Given the description of an element on the screen output the (x, y) to click on. 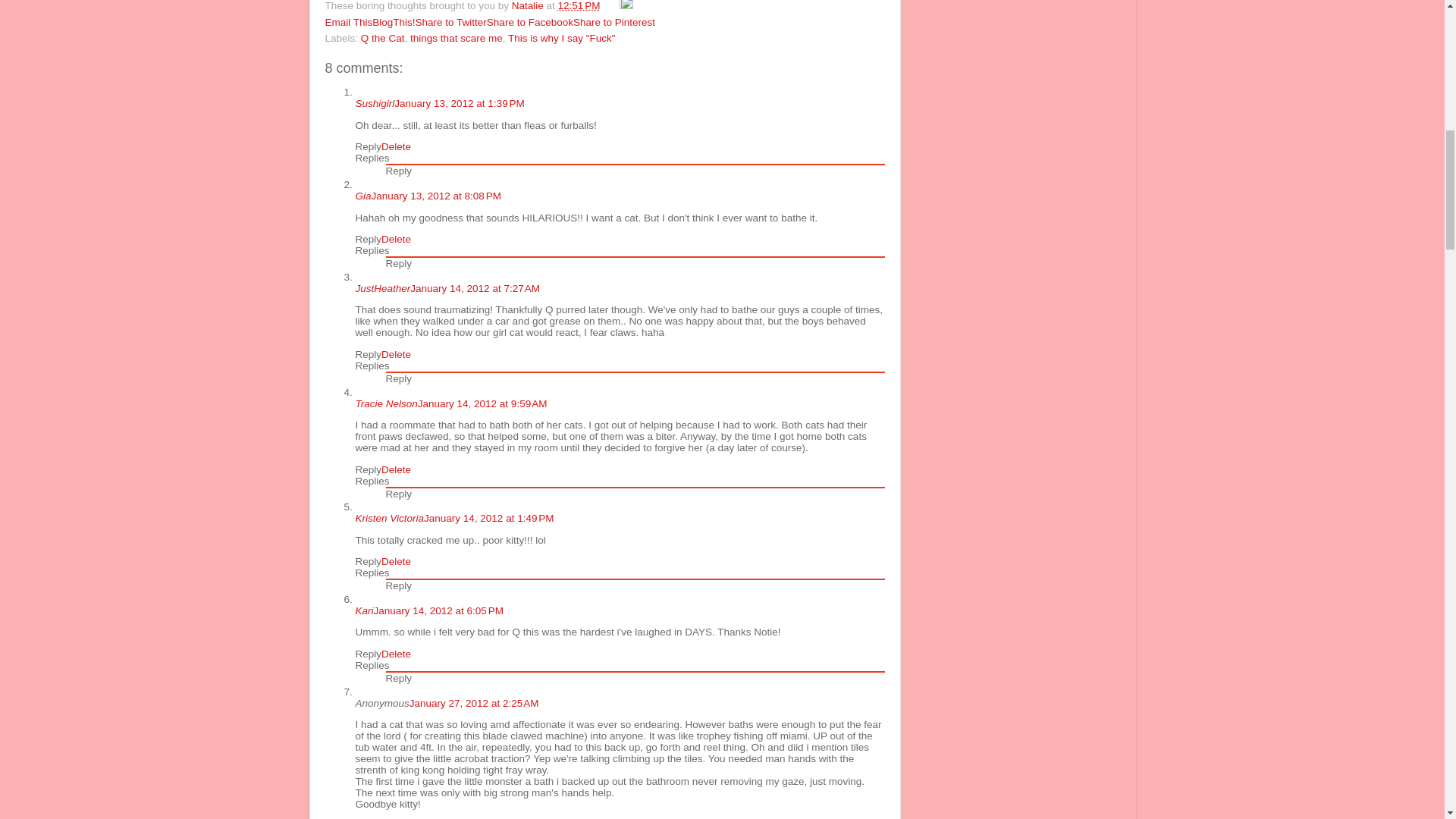
BlogThis! (393, 21)
things that scare me (456, 38)
Delete (395, 354)
Share to Pinterest (614, 21)
Reply (398, 263)
Email This (348, 21)
Replies (371, 365)
Reply (368, 469)
Share to Twitter (450, 21)
Email This (348, 21)
Share to Twitter (450, 21)
Edit Post (626, 5)
Reply (398, 170)
